Given the description of an element on the screen output the (x, y) to click on. 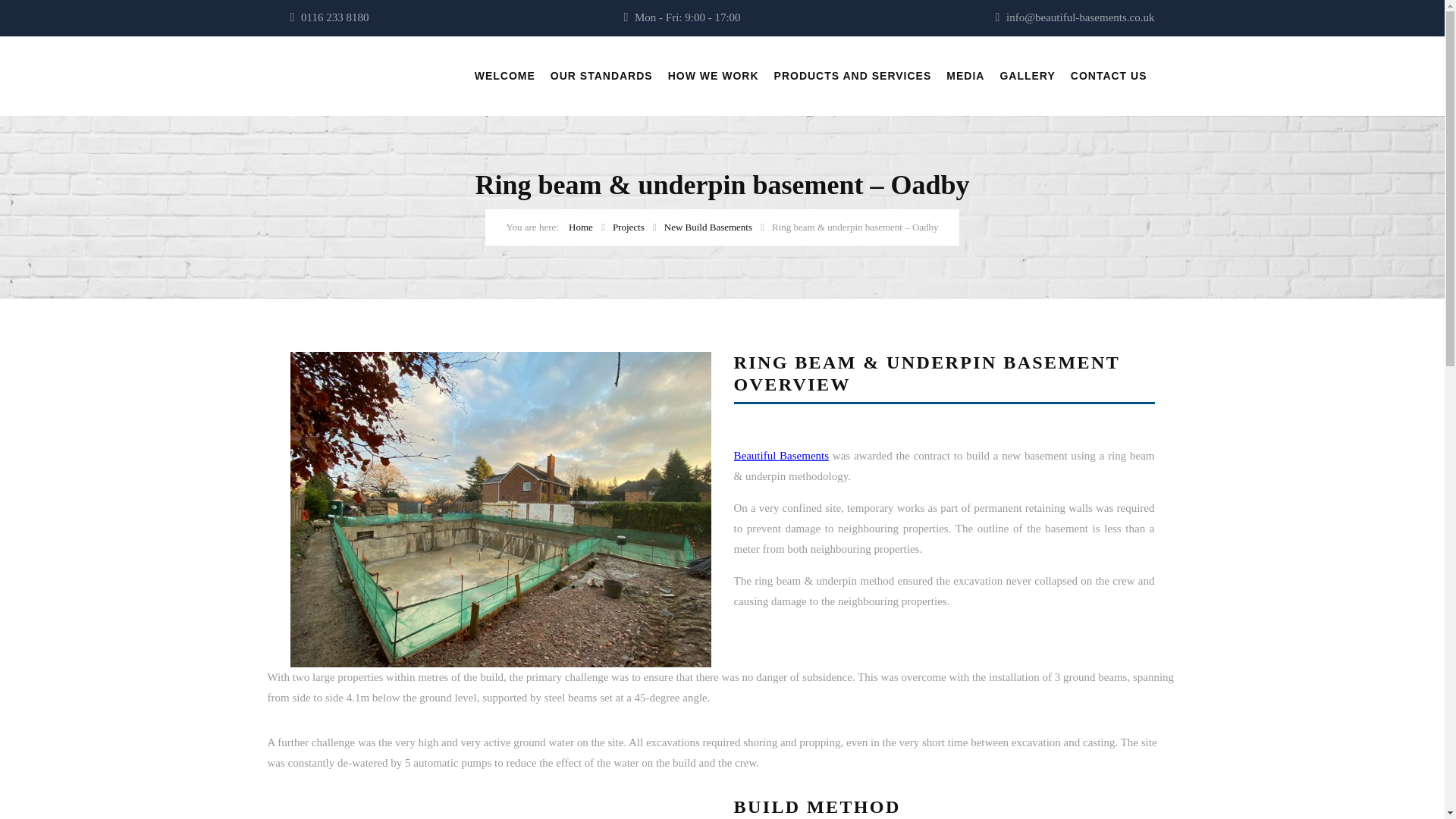
0116 233 8180 (334, 17)
Projects (628, 226)
New Build Basements (707, 226)
CONTACT US (1108, 76)
OUR STANDARDS (601, 76)
HOW WE WORK (713, 76)
40 (499, 509)
Home (580, 226)
Beautiful Basements (781, 455)
PRODUCTS AND SERVICES (852, 76)
